Given the description of an element on the screen output the (x, y) to click on. 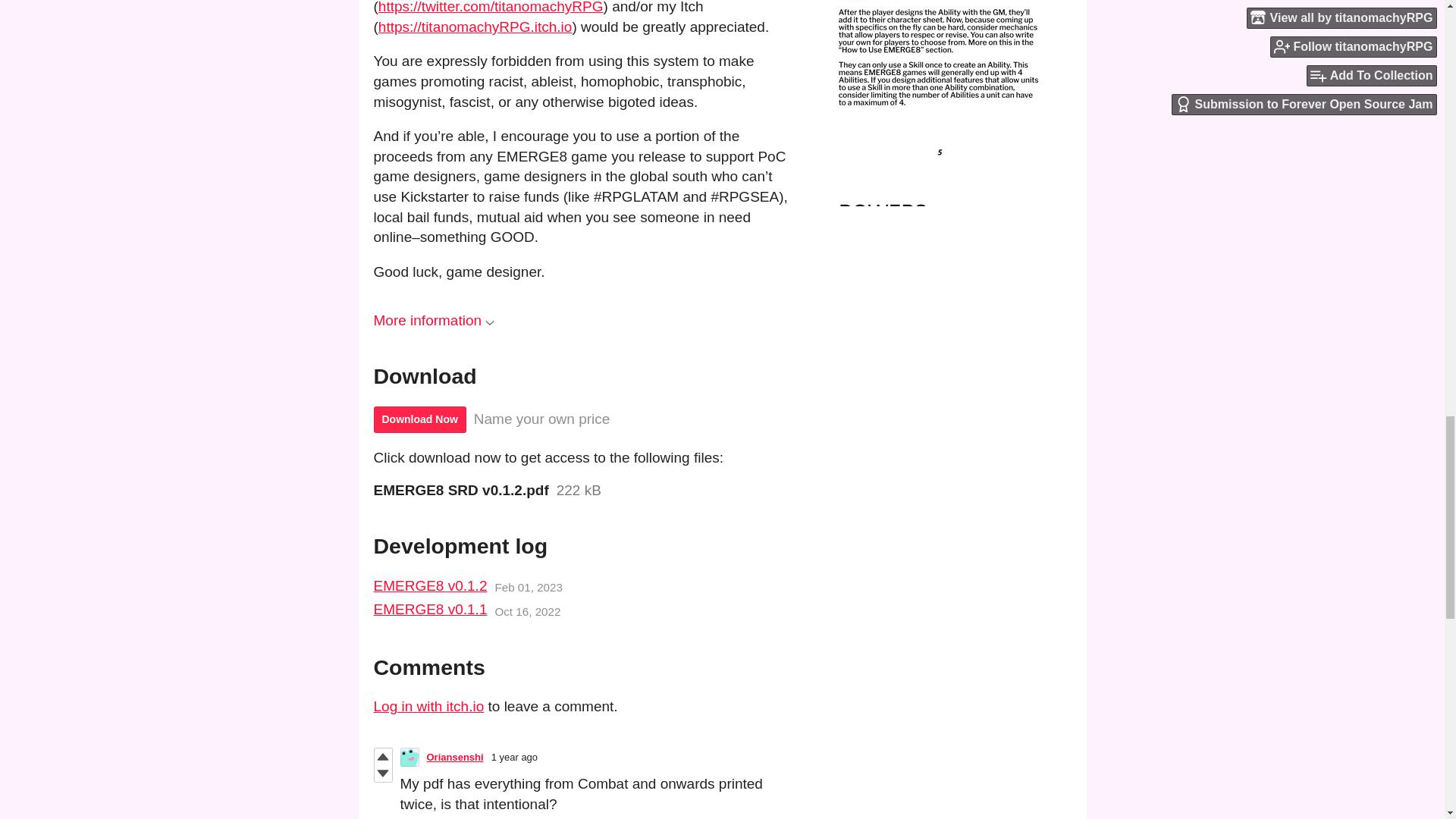
EMERGE8 v0.1.1 (429, 609)
More information (433, 320)
Vote up (382, 756)
EMERGE8 SRD v0.1.2.pdf (460, 490)
Log in with itch.io (427, 706)
Oriansenshi (454, 756)
Vote down (382, 773)
EMERGE8 v0.1.2 (429, 586)
2023-03-17 01:57:39 (514, 756)
Download Now (418, 419)
1 year ago (514, 756)
